Given the description of an element on the screen output the (x, y) to click on. 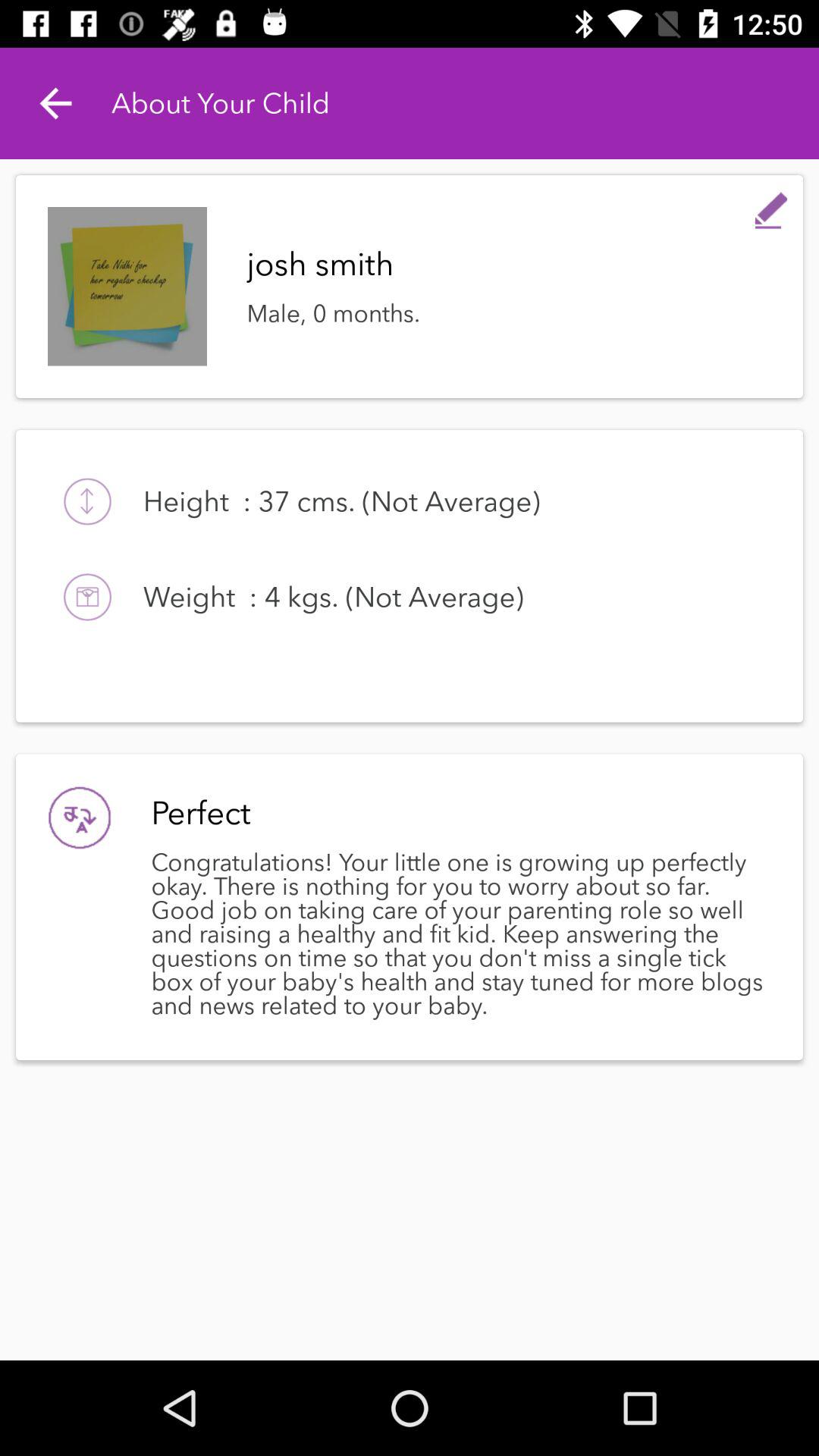
turn off the perfect (457, 813)
